Given the description of an element on the screen output the (x, y) to click on. 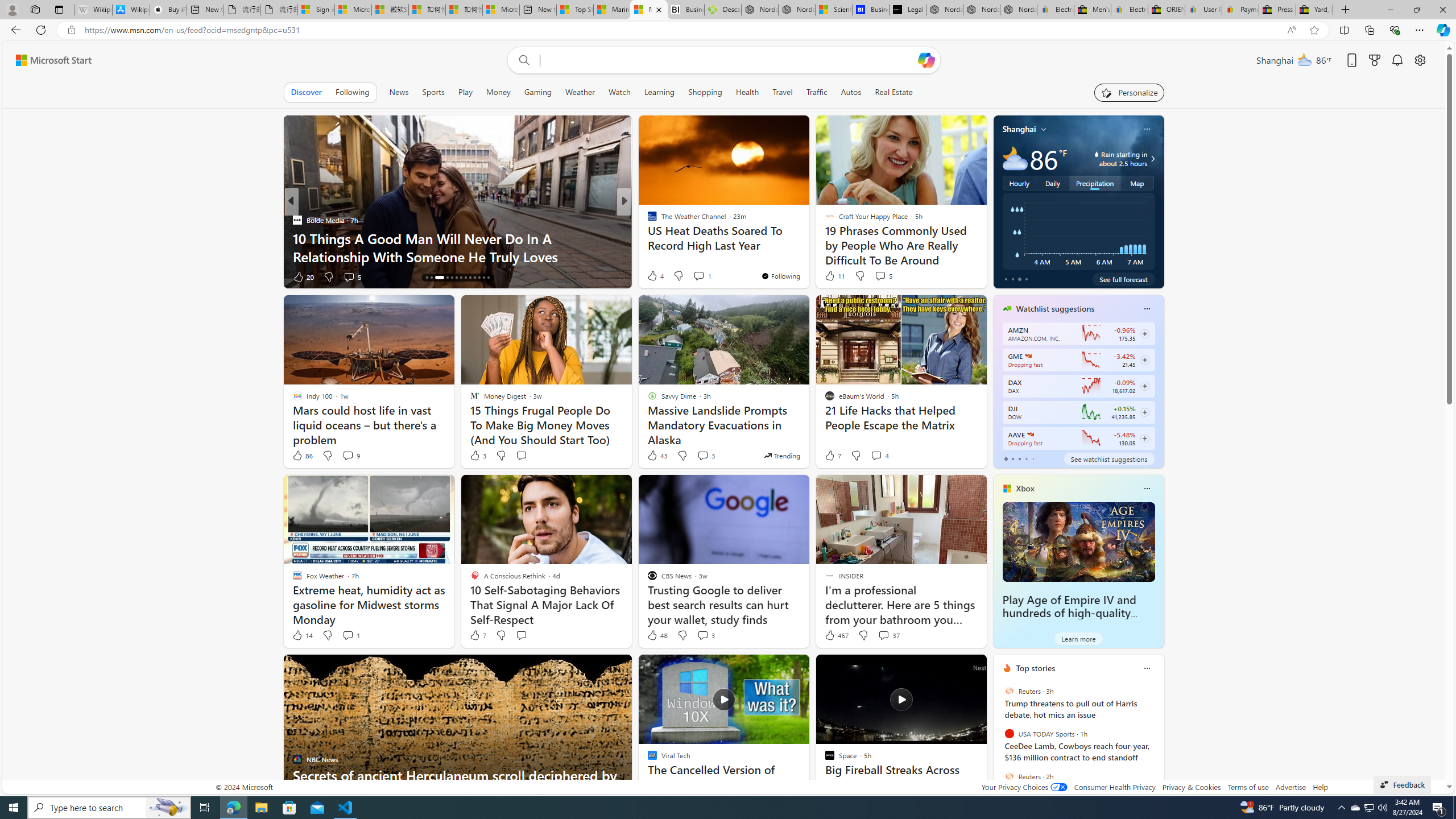
Hide this story (952, 668)
Money (498, 92)
View comments 1k Comment (347, 276)
Precipitation (1094, 183)
Payments Terms of Use | eBay.com (1240, 9)
14 Like (301, 634)
Play (465, 92)
516 Like (654, 276)
View comments 13 Comment (6, 276)
Learning (658, 92)
Microsoft rewards (1374, 60)
